Given the description of an element on the screen output the (x, y) to click on. 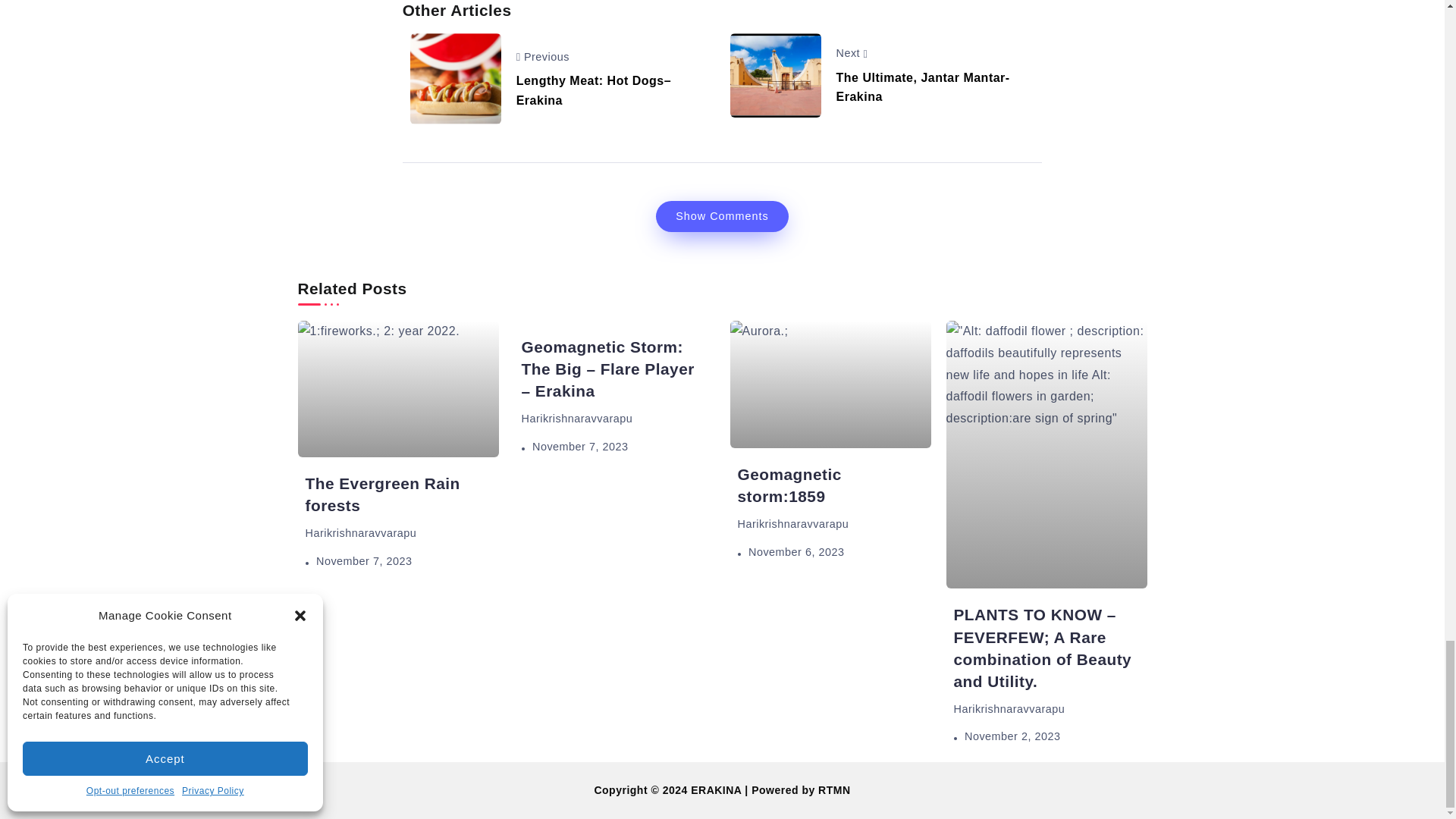
Geomagnetic storm:1859 (788, 485)
The Evergreen Rain forests (382, 494)
Geomagnetic storm:1859 (829, 384)
The Evergreen Rain forests (397, 389)
